Given the description of an element on the screen output the (x, y) to click on. 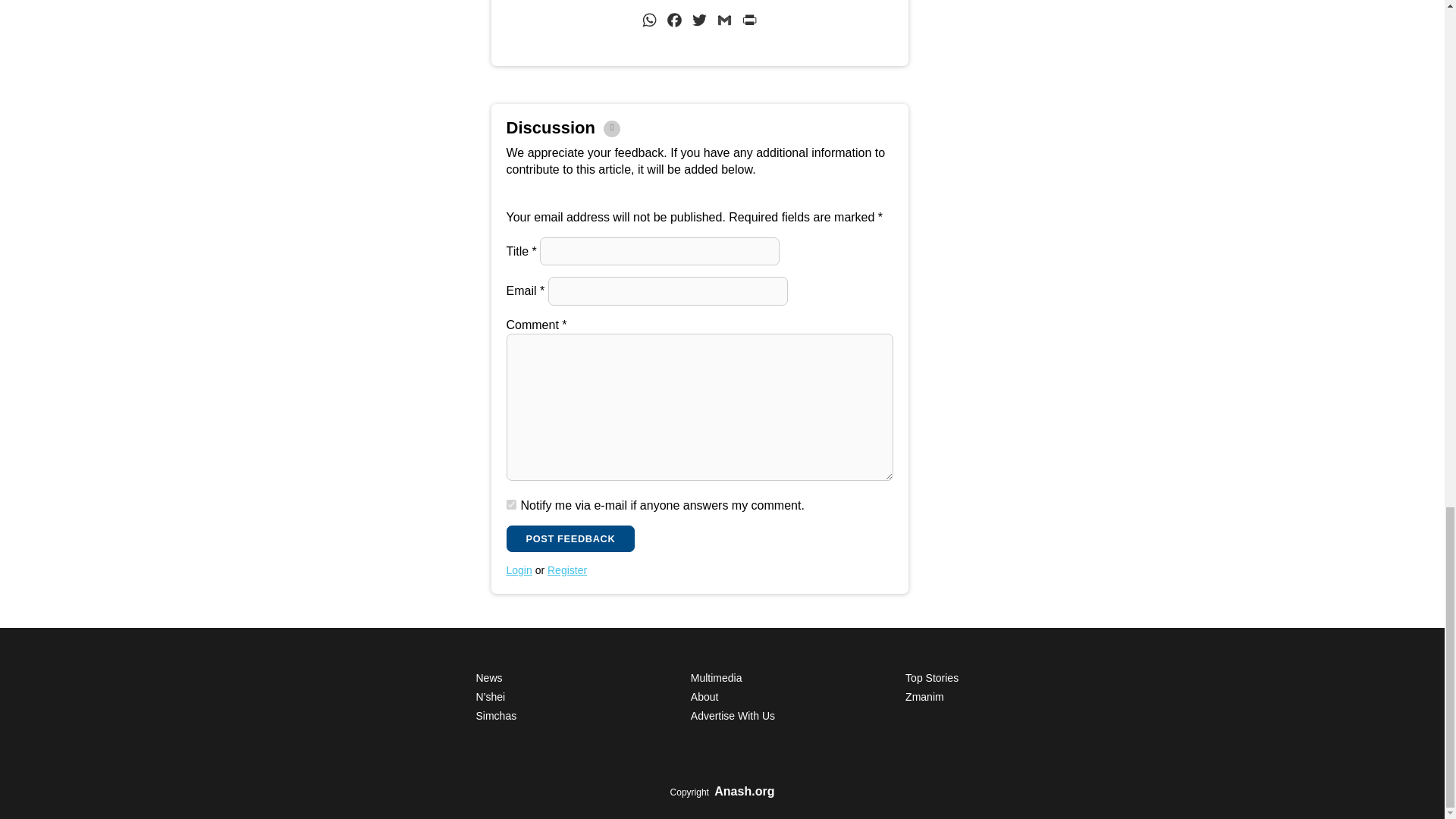
Twitter (699, 22)
WhatsApp (649, 22)
Gmail (723, 22)
Print (748, 22)
Facebook (674, 22)
Post Feedback (570, 538)
on (511, 504)
WhatsApp (649, 22)
Facebook (674, 22)
